Given the description of an element on the screen output the (x, y) to click on. 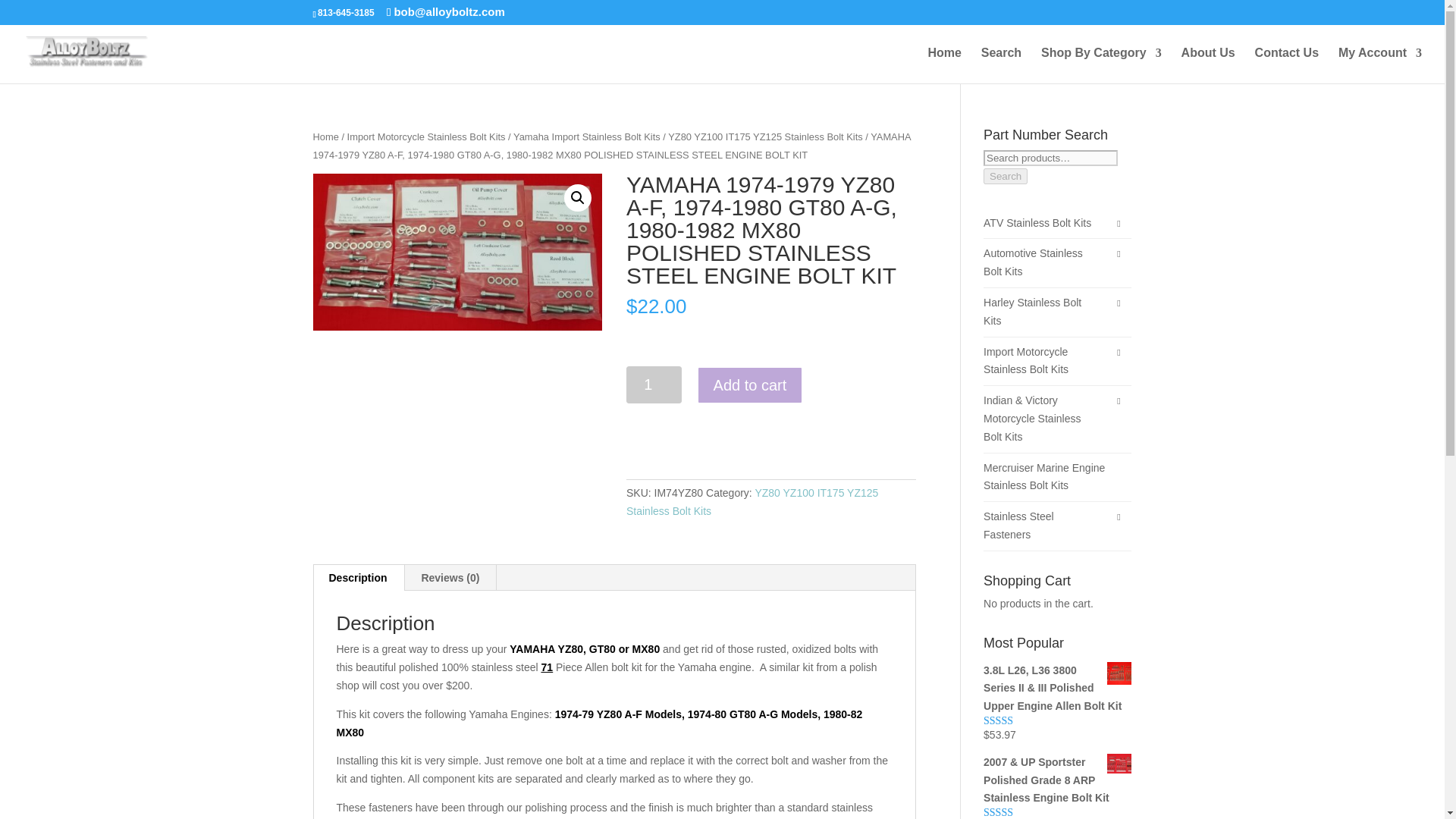
Shop By Category (1101, 65)
Yamaha 1974-79 YZ80 A-F 74-80 GT80 A-G (457, 251)
PayPal (741, 450)
Search (1001, 65)
Home (943, 65)
1 (653, 384)
